Given the description of an element on the screen output the (x, y) to click on. 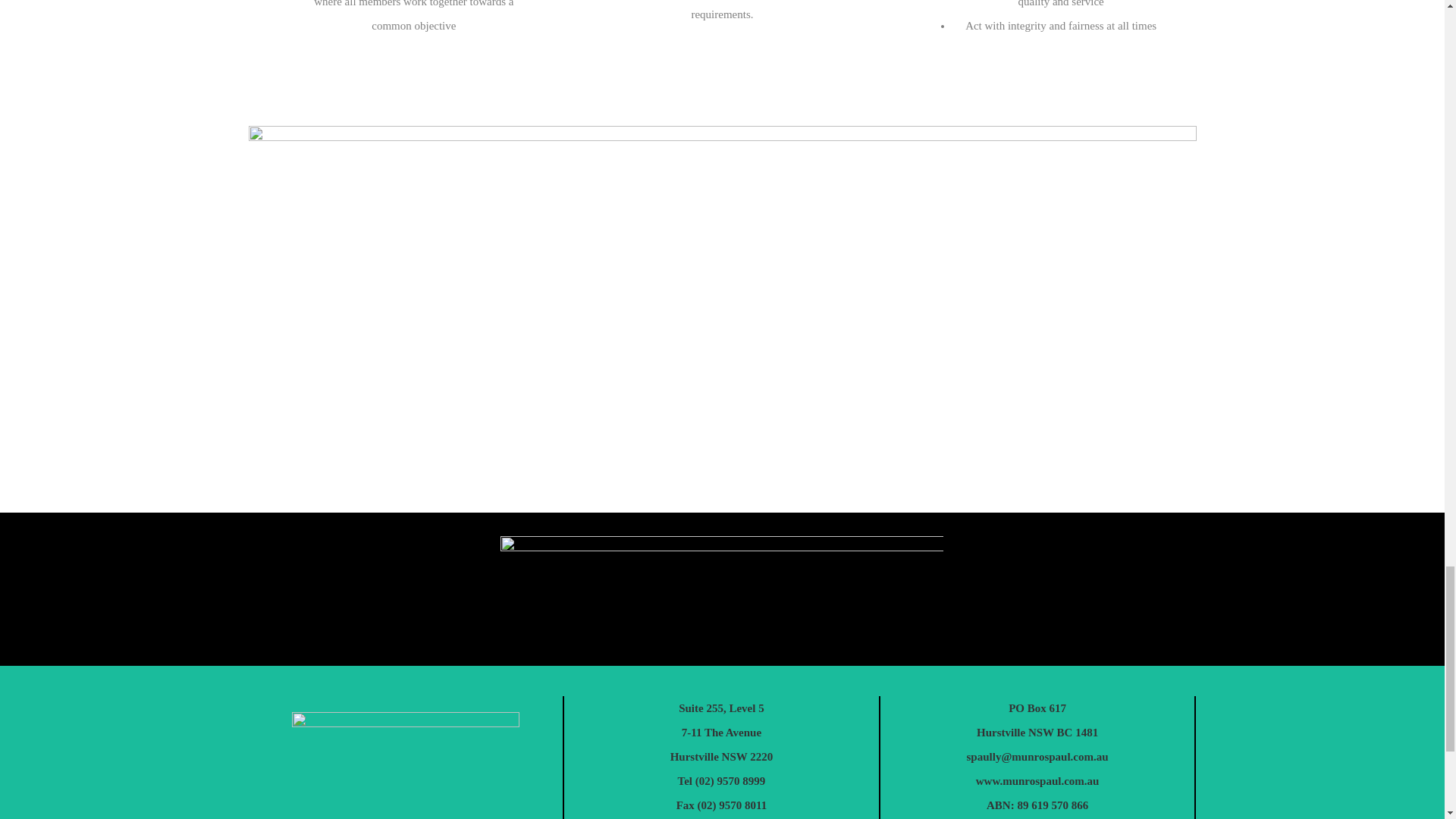
MunroSpaul-Logos (721, 588)
MS Logo BW (405, 765)
